Given the description of an element on the screen output the (x, y) to click on. 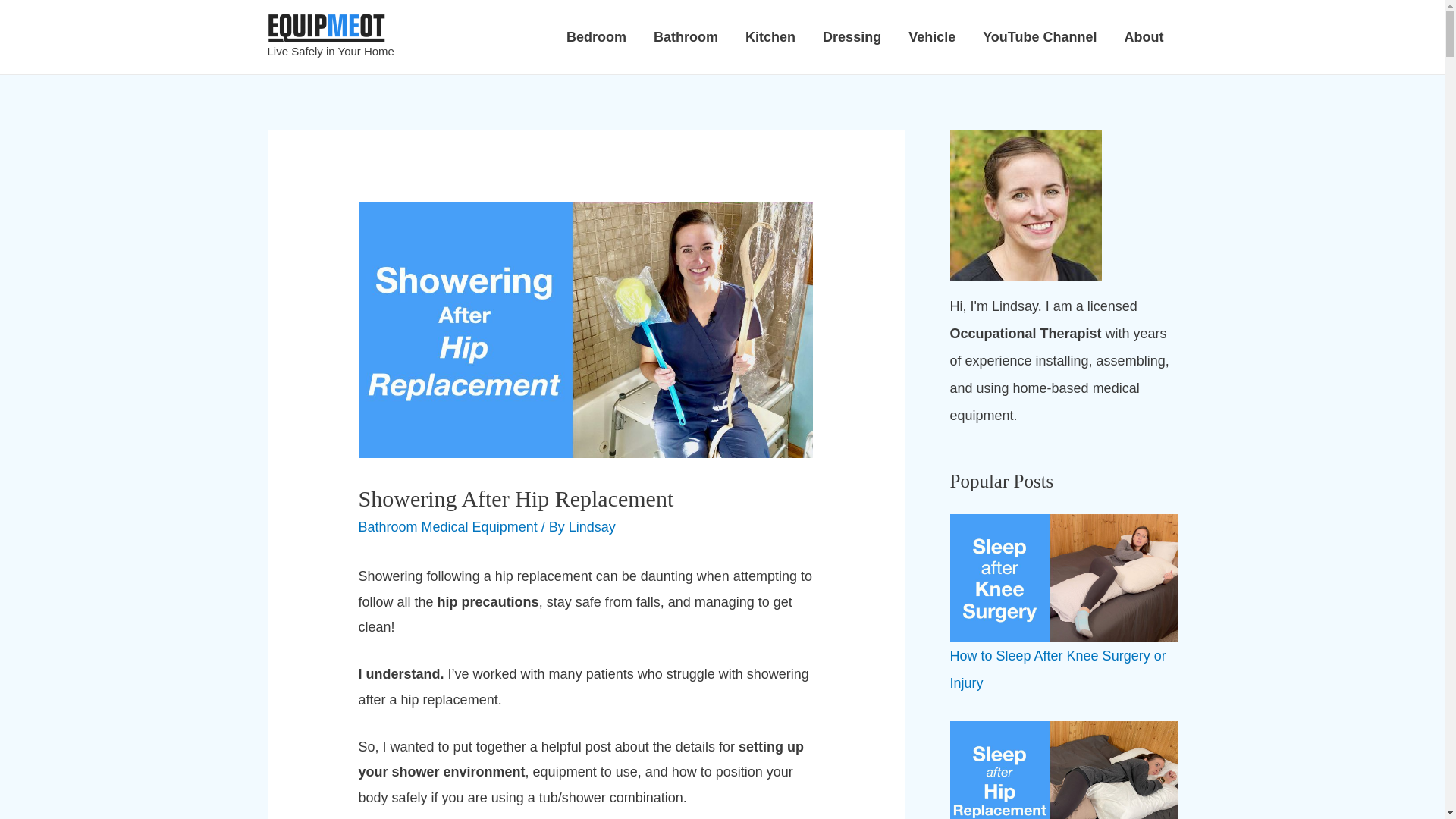
About (1143, 36)
View all posts by Lindsay (592, 526)
Bedroom (596, 36)
Bathroom Medical Equipment (447, 526)
How to Sleep After Knee Surgery or Injury (1057, 669)
Dressing (852, 36)
YouTube Channel (1039, 36)
Lindsay (592, 526)
Kitchen (770, 36)
Bathroom (686, 36)
